Given the description of an element on the screen output the (x, y) to click on. 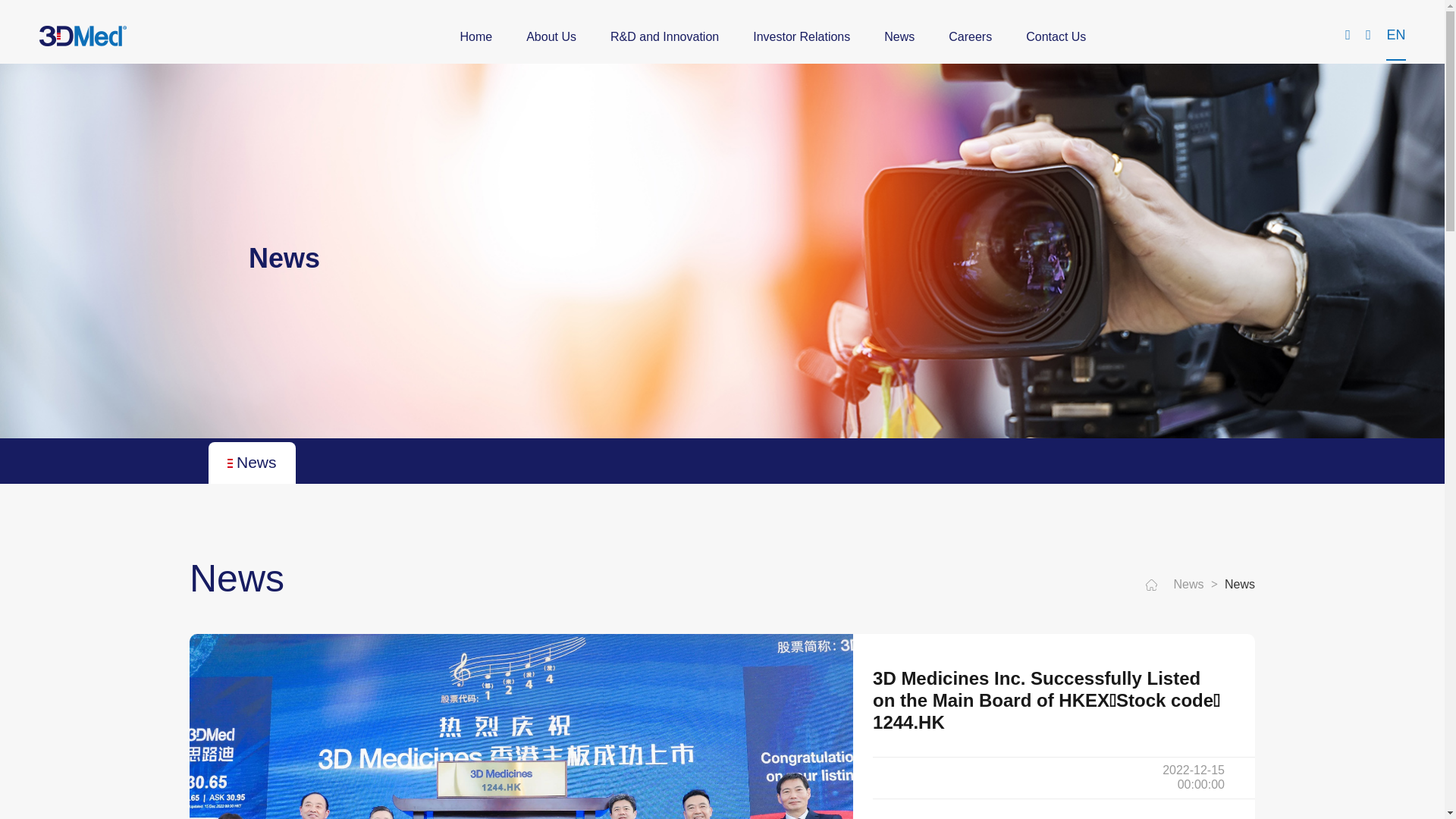
About Us Element type: text (551, 37)
News > Element type: text (1197, 584)
Contact Us Element type: text (1055, 37)
Careers Element type: text (969, 37)
Investor Relations Element type: text (801, 37)
EN Element type: text (1395, 36)
News Element type: text (1239, 584)
Home Element type: text (475, 37)
News Element type: text (899, 37)
R&D and Innovation Element type: text (664, 37)
News Element type: text (251, 463)
